Given the description of an element on the screen output the (x, y) to click on. 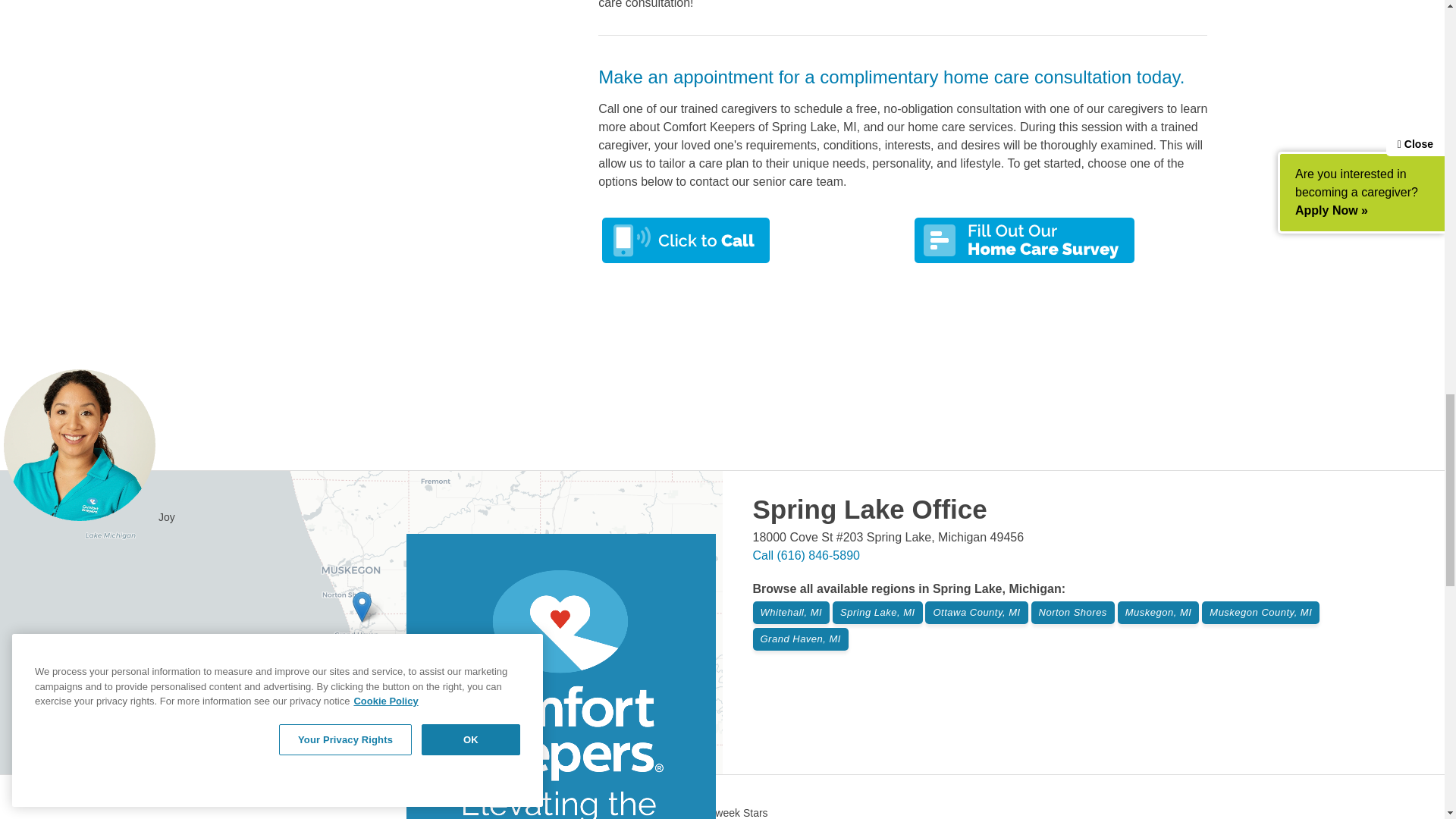
Call Us (805, 554)
